Given the description of an element on the screen output the (x, y) to click on. 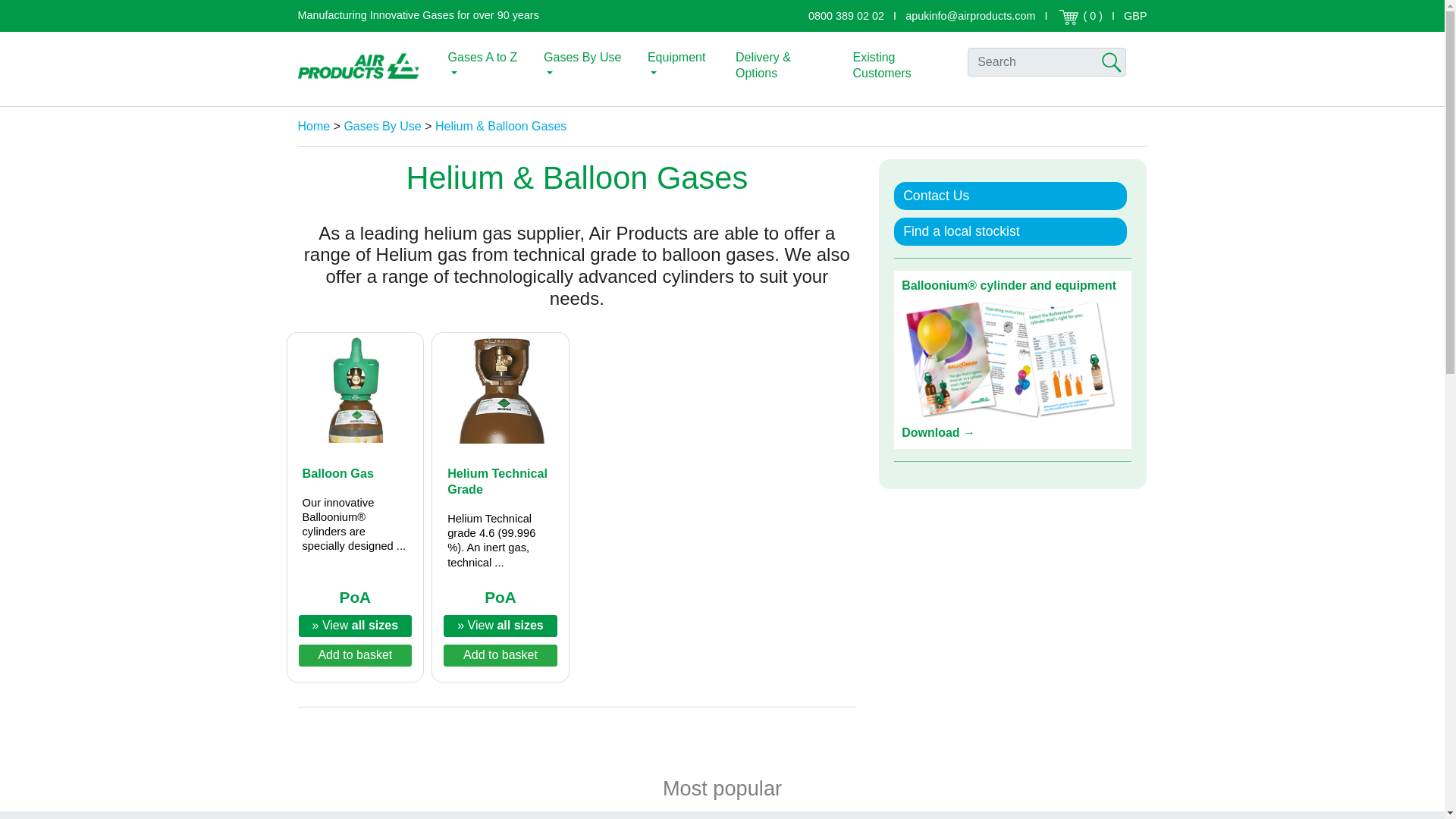
Air Products (358, 65)
Gases By Use (585, 65)
GBP (1135, 15)
Equipment (682, 65)
0800 389 02 02 (845, 15)
Balloon Gas (354, 391)
Balloonium (1012, 360)
Existing Customers (902, 65)
shopping cart (1068, 16)
Helium Technical Grade (499, 391)
Gases A to Z (485, 65)
